Given the description of an element on the screen output the (x, y) to click on. 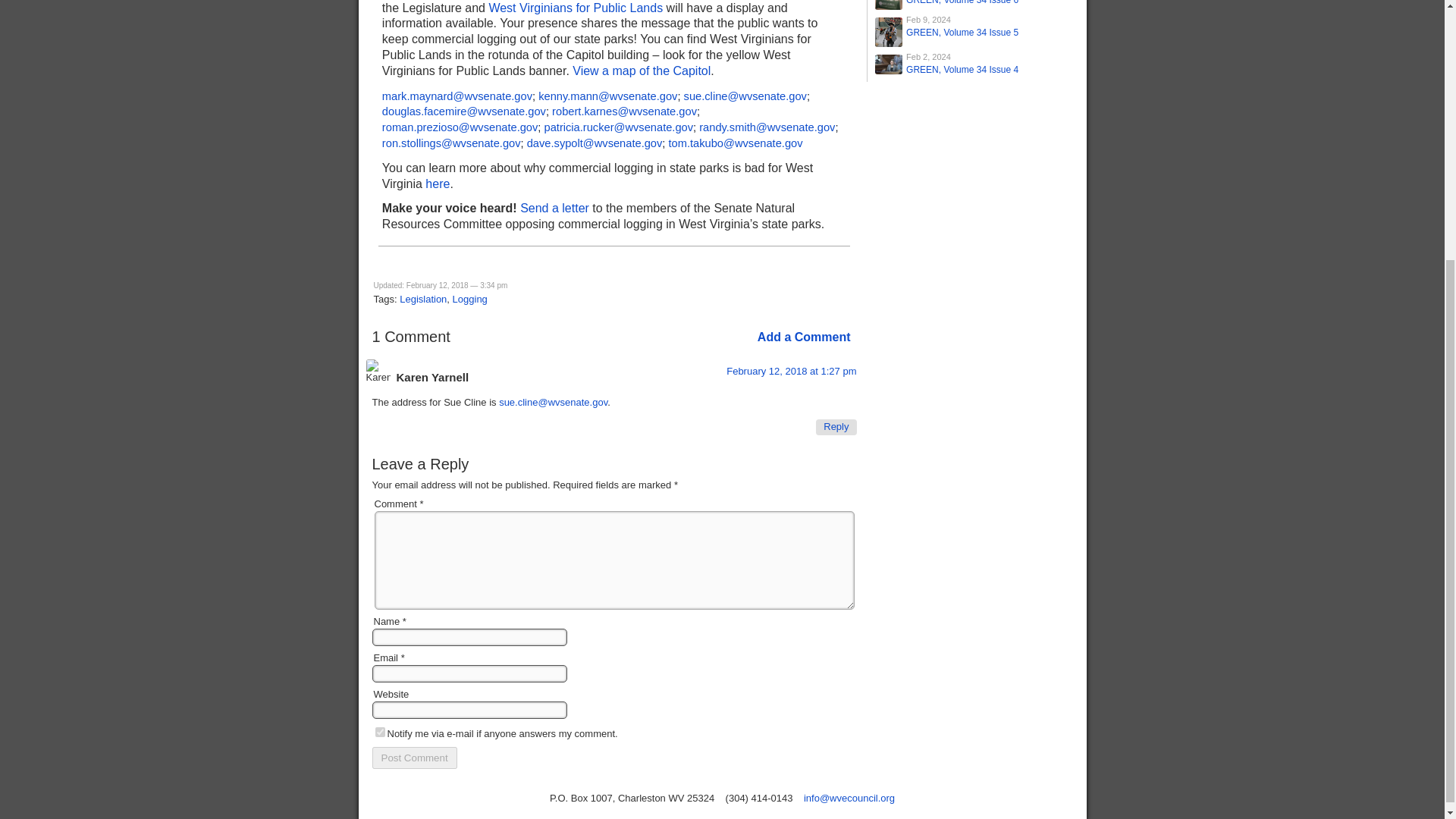
on (379, 732)
Post Comment (414, 757)
